Given the description of an element on the screen output the (x, y) to click on. 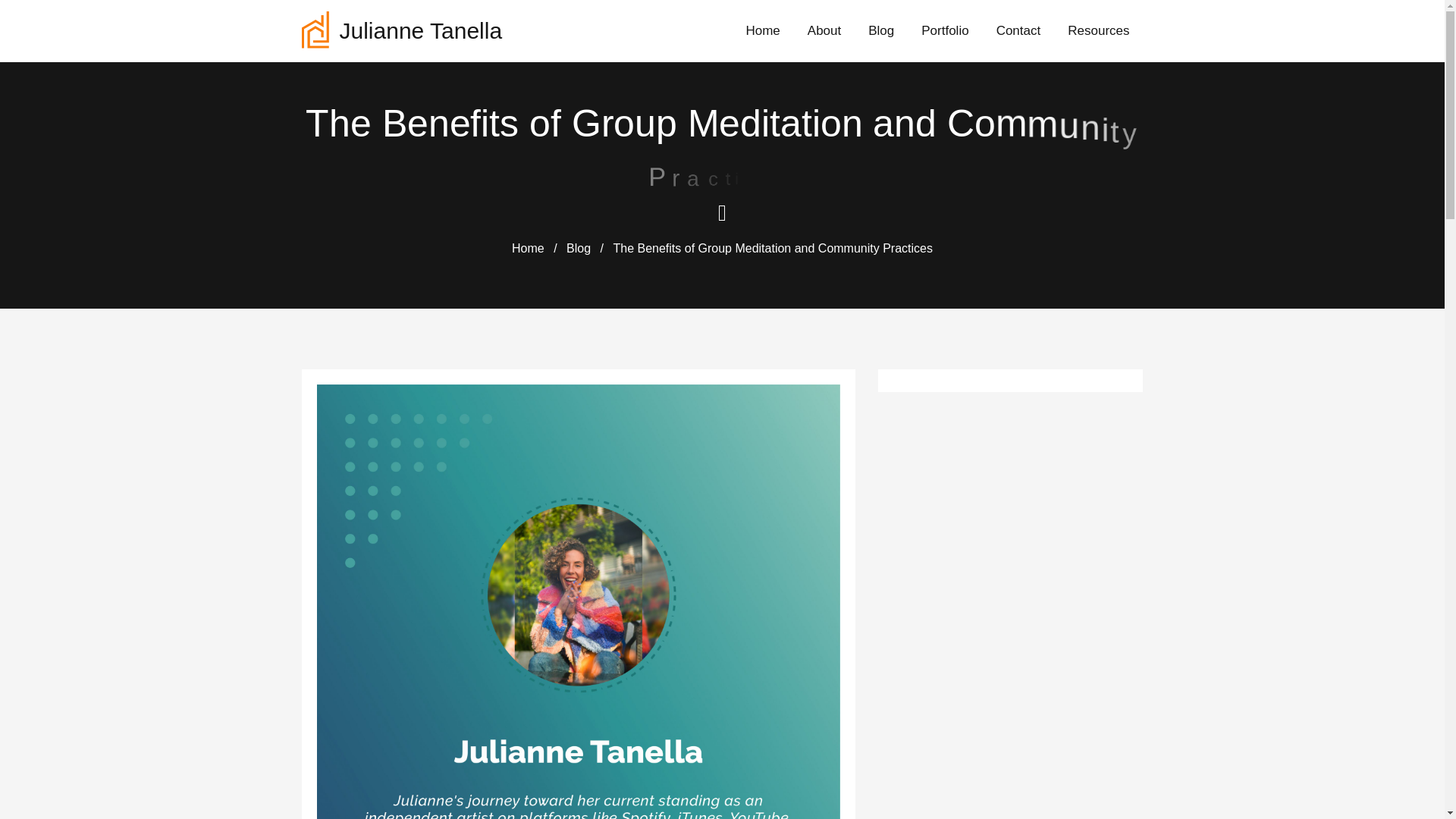
Portfolio (944, 30)
Home (761, 30)
Home (528, 246)
Resources (1098, 30)
Blog (881, 30)
Blog (578, 246)
Julianne Tanella (401, 30)
About (823, 30)
Contact (1018, 30)
Home (528, 246)
